Given the description of an element on the screen output the (x, y) to click on. 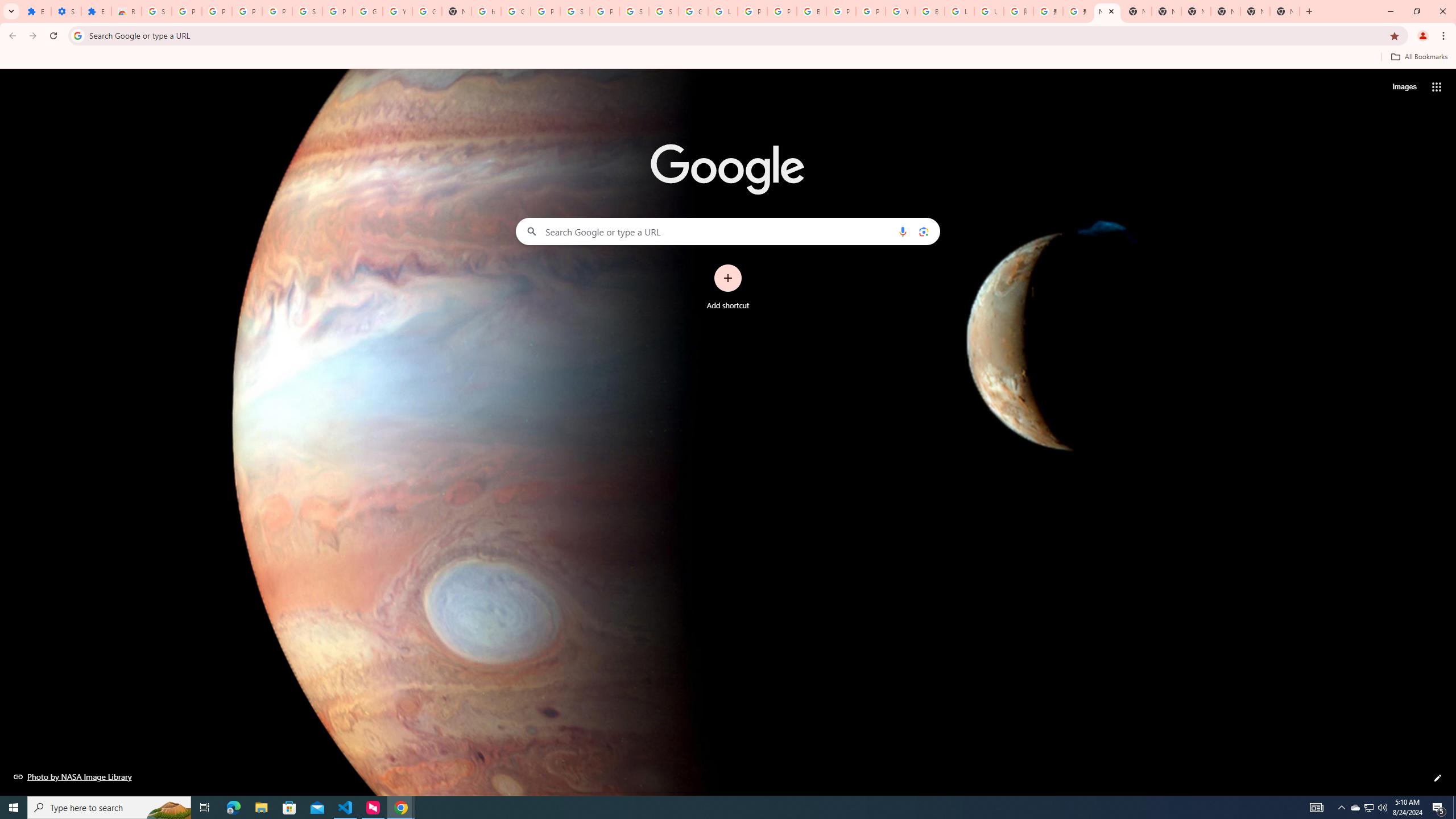
New Tab (1106, 11)
Search Google or type a URL (727, 230)
